Given the description of an element on the screen output the (x, y) to click on. 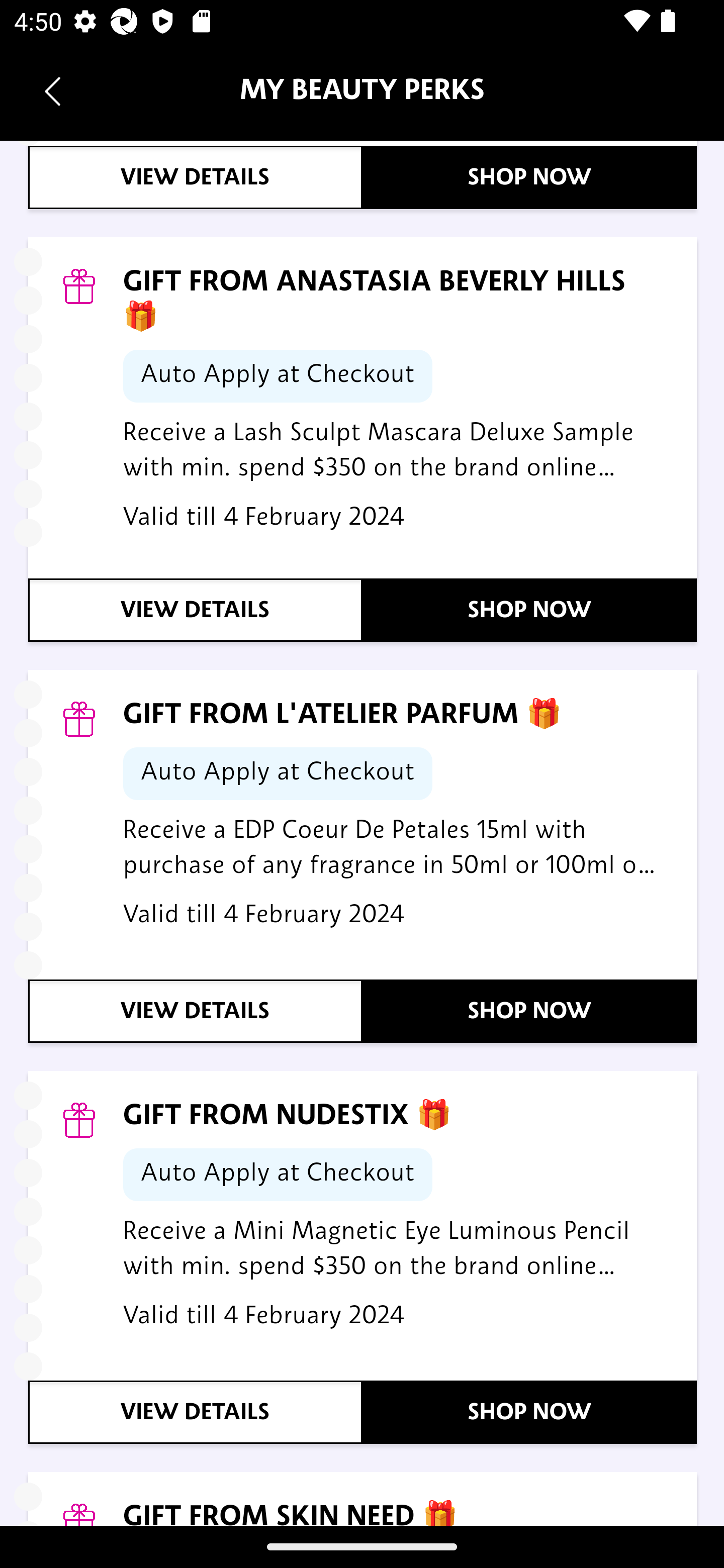
VIEW DETAILS (196, 177)
SHOP NOW (530, 177)
VIEW DETAILS (196, 610)
SHOP NOW (530, 610)
VIEW DETAILS (196, 1011)
SHOP NOW (530, 1011)
VIEW DETAILS (196, 1411)
SHOP NOW (530, 1411)
